Given the description of an element on the screen output the (x, y) to click on. 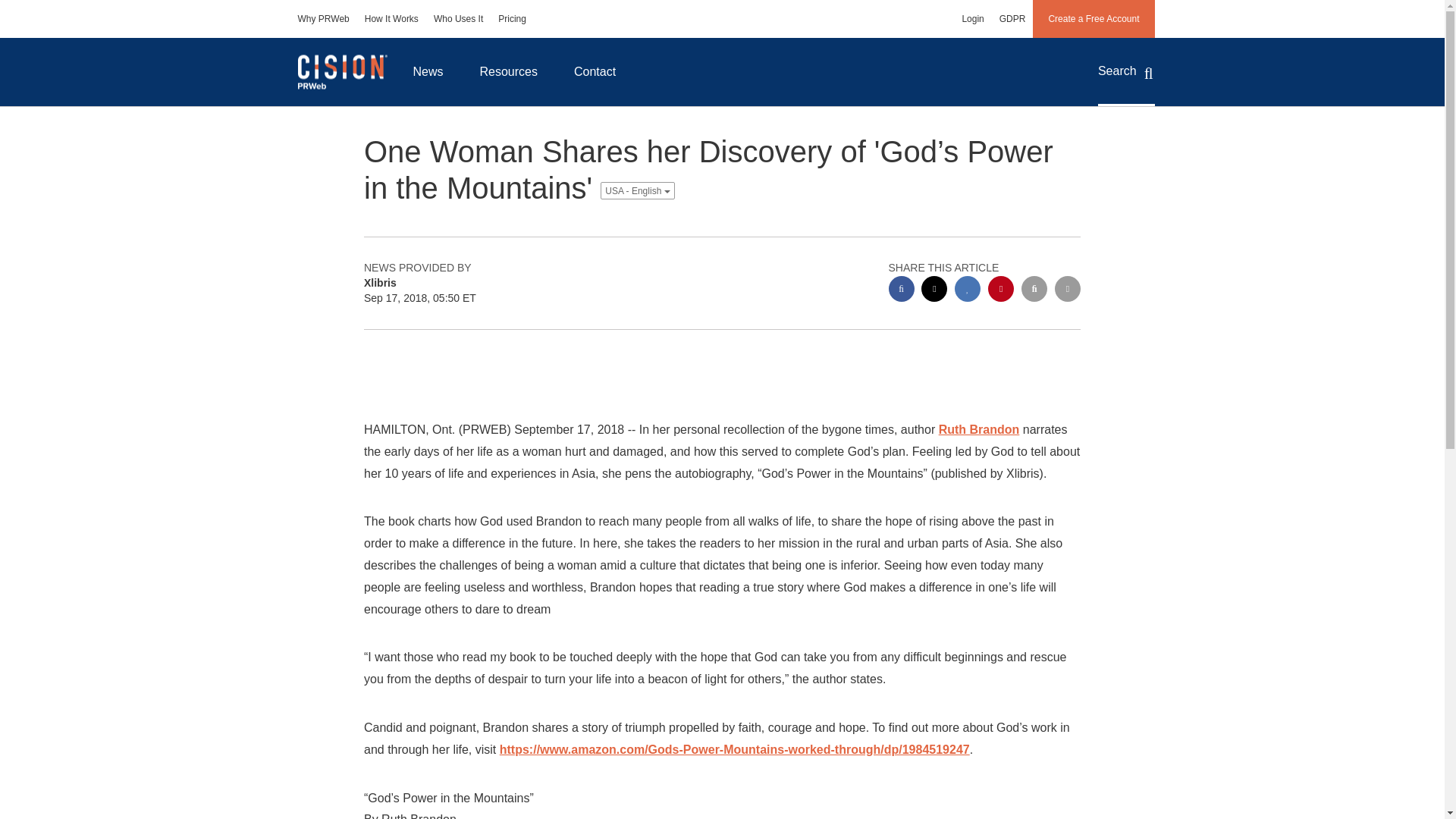
Contact (594, 71)
Why PRWeb (322, 18)
Login (972, 18)
How It Works (391, 18)
Resources (508, 71)
News (427, 71)
Create a Free Account (1093, 18)
GDPR (1012, 18)
Who Uses It (458, 18)
